Given the description of an element on the screen output the (x, y) to click on. 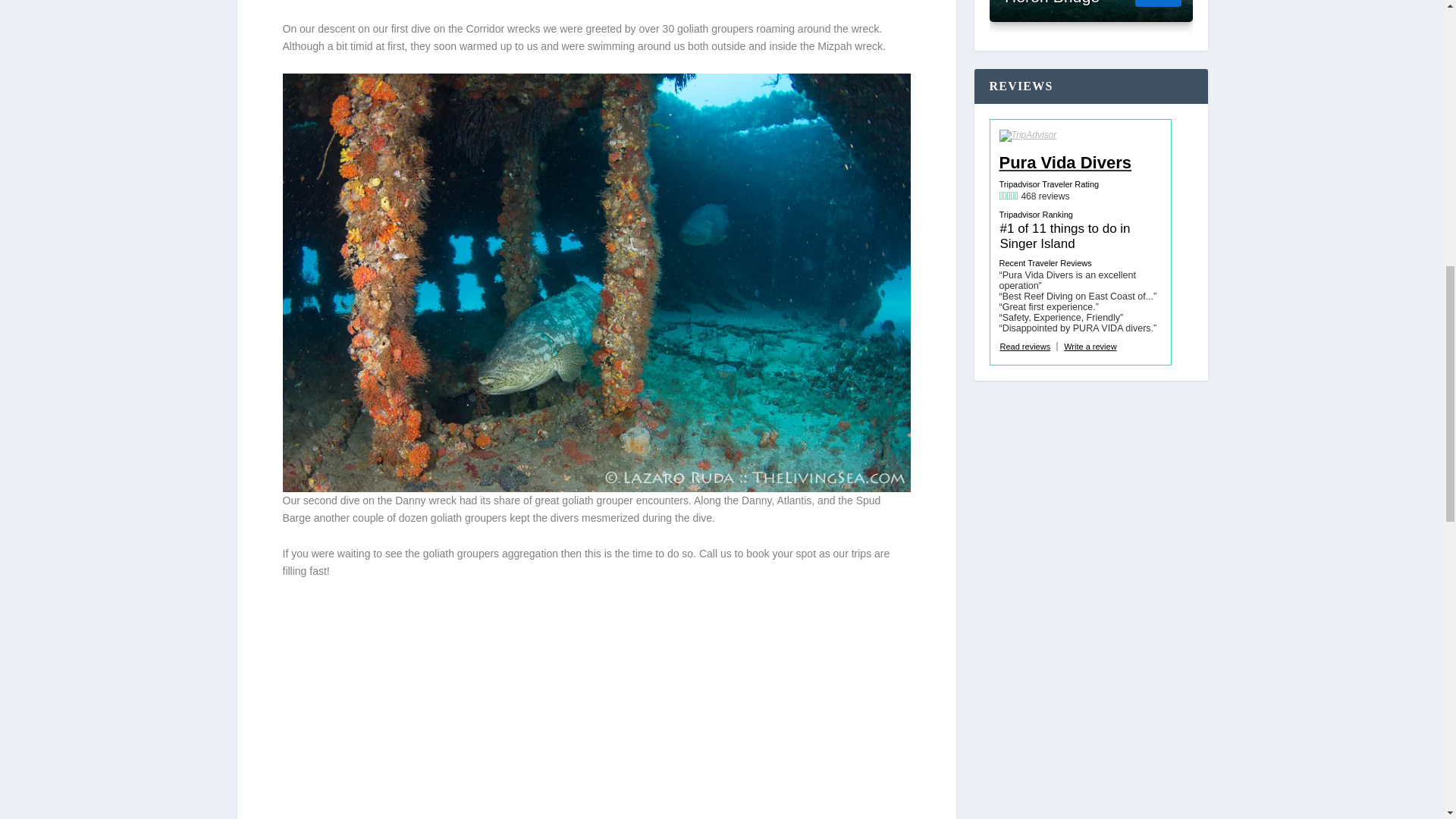
150819-122648-0062 (804, 770)
150819-122910-0064 (804, 650)
FareHarbor (1342, 64)
150819-123611-0067 (491, 700)
